Given the description of an element on the screen output the (x, y) to click on. 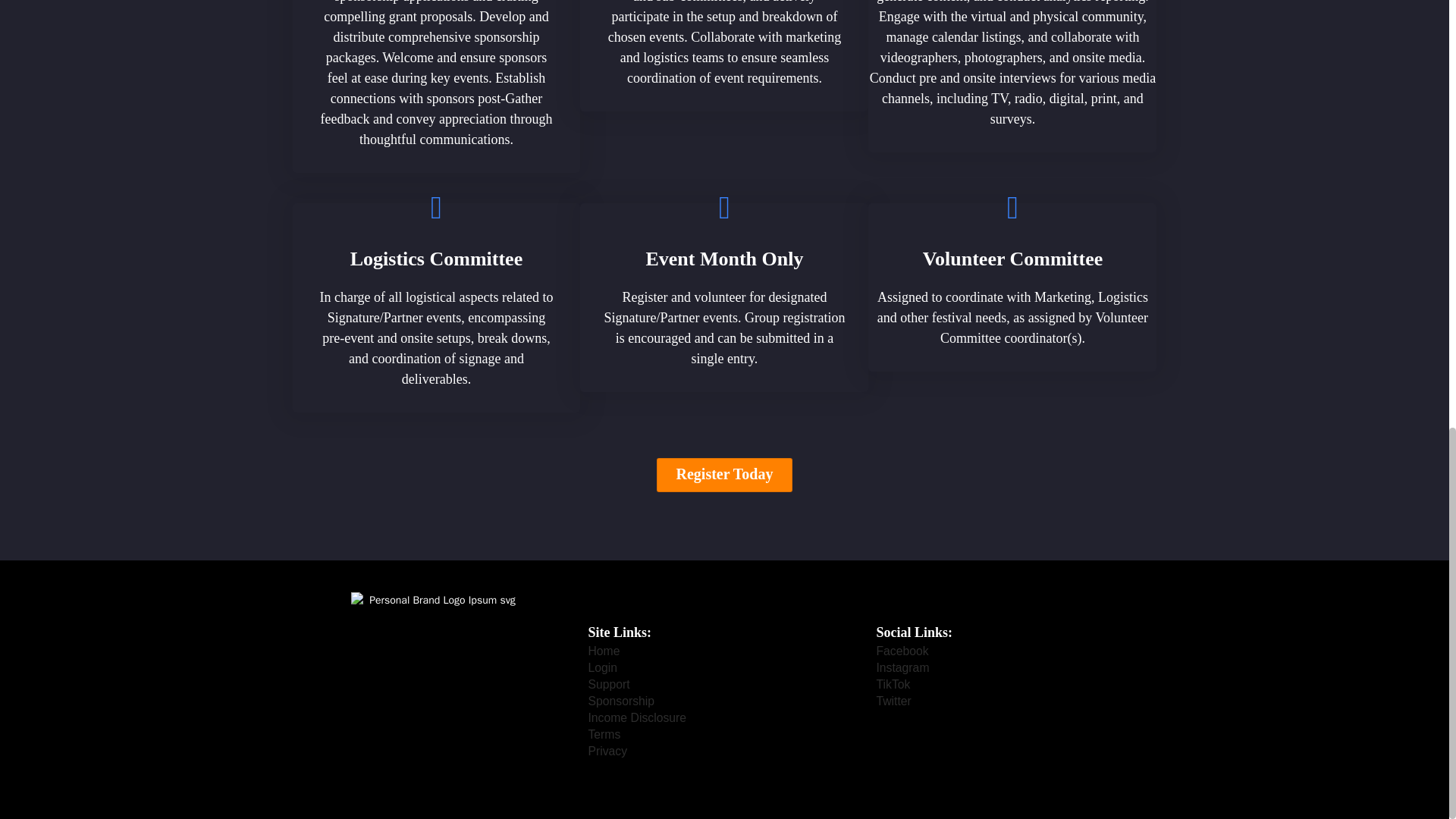
Income Disclosure (636, 718)
Home (604, 651)
Facebook (902, 651)
Login (602, 668)
Support (608, 684)
Sponsorship (620, 701)
Twitter (893, 701)
TikTok (893, 684)
Instagram (902, 668)
Register Today (724, 474)
Privacy (607, 751)
Terms (604, 734)
